Given the description of an element on the screen output the (x, y) to click on. 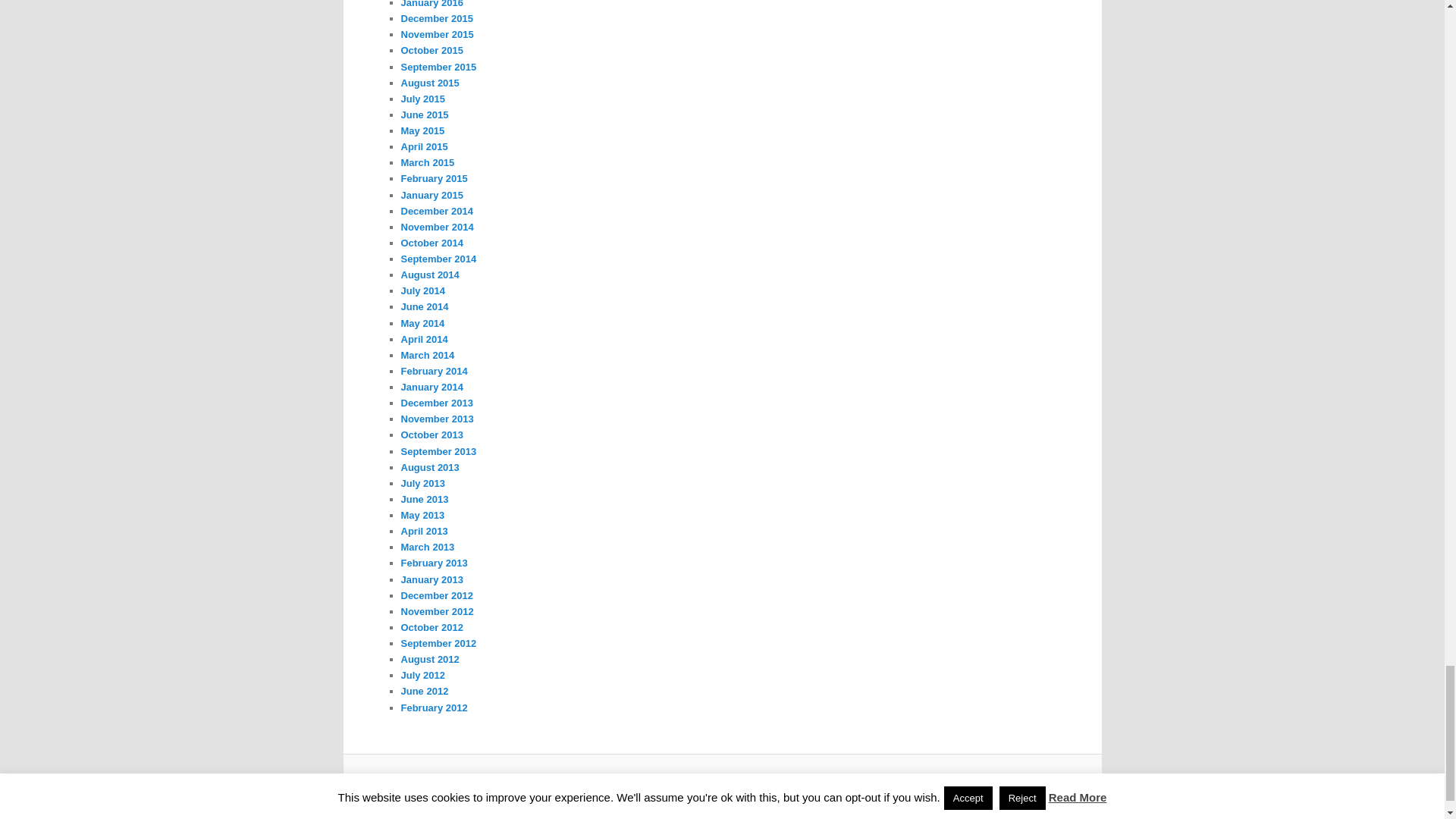
Semantic Personal Publishing Platform (749, 784)
